Given the description of an element on the screen output the (x, y) to click on. 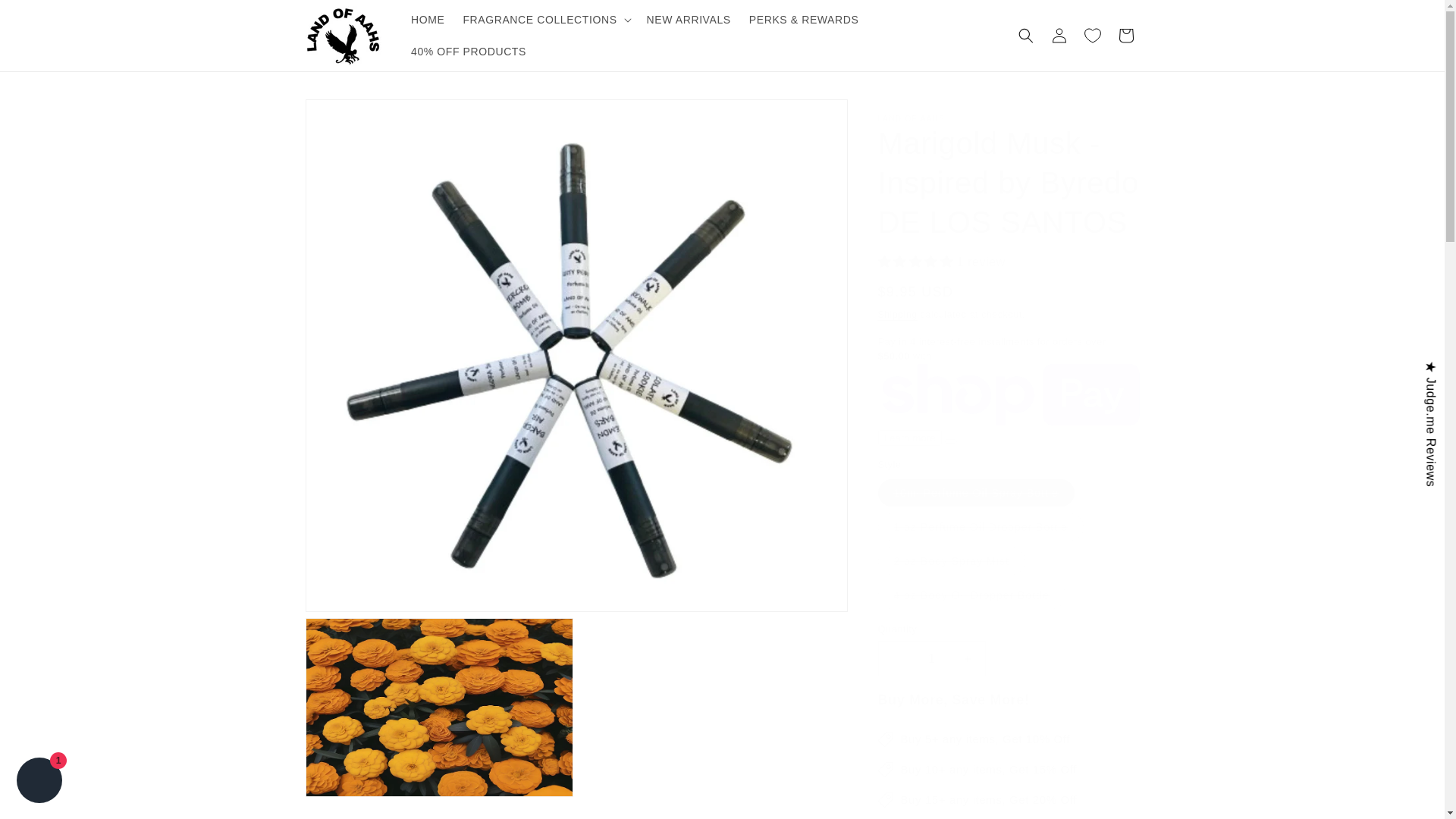
Open media 2 in modal (438, 707)
Skip to content (45, 17)
Shopify online store chat (38, 781)
HOME (426, 20)
1 (931, 658)
